Given the description of an element on the screen output the (x, y) to click on. 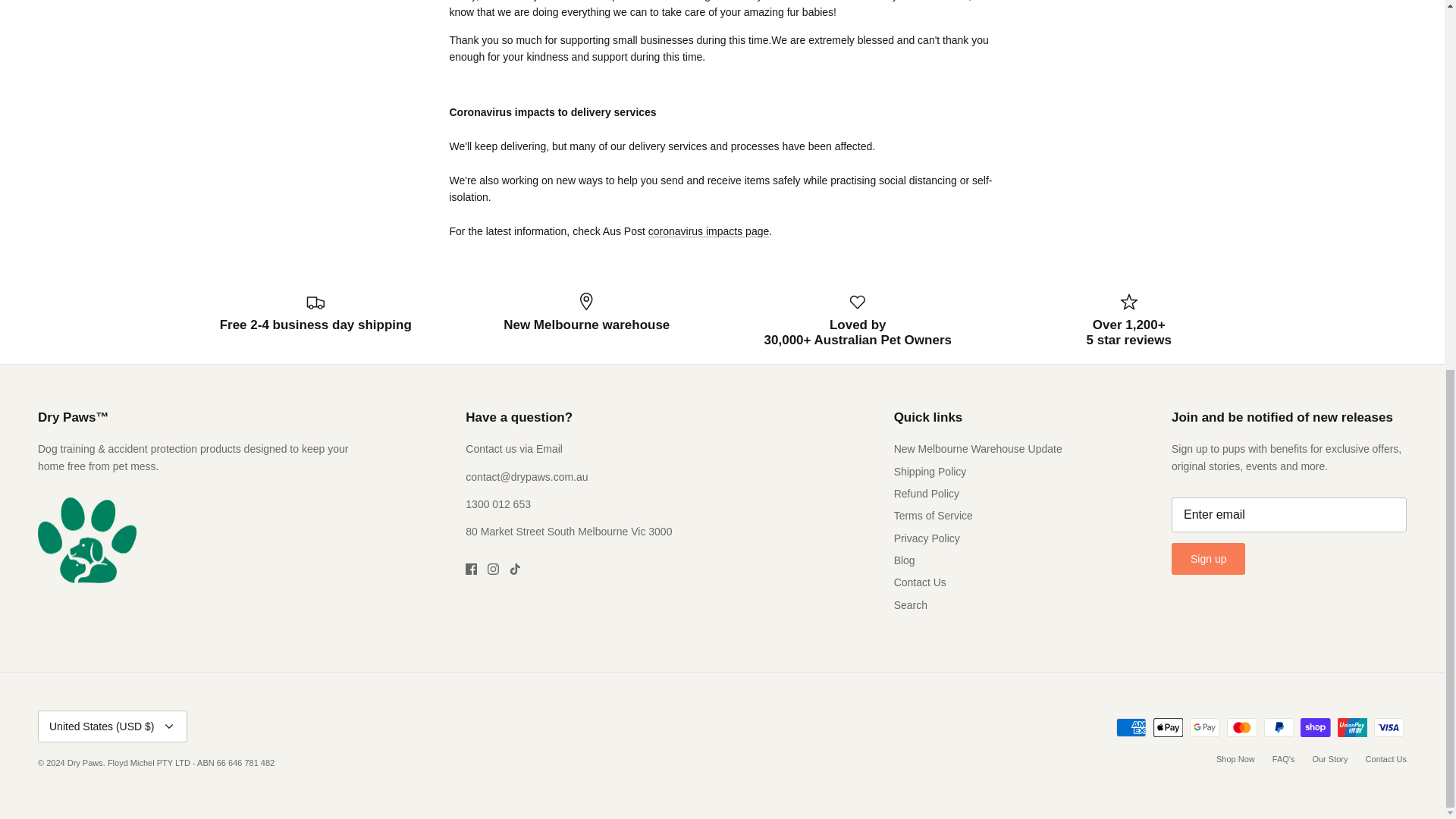
Apple Pay (1168, 727)
Down (168, 726)
American Express (1130, 727)
Visa (1388, 727)
Instagram (493, 568)
Mastercard (1241, 727)
Union Pay (1352, 727)
Facebook (471, 568)
PayPal (1277, 727)
Shop Pay (1315, 727)
